Given the description of an element on the screen output the (x, y) to click on. 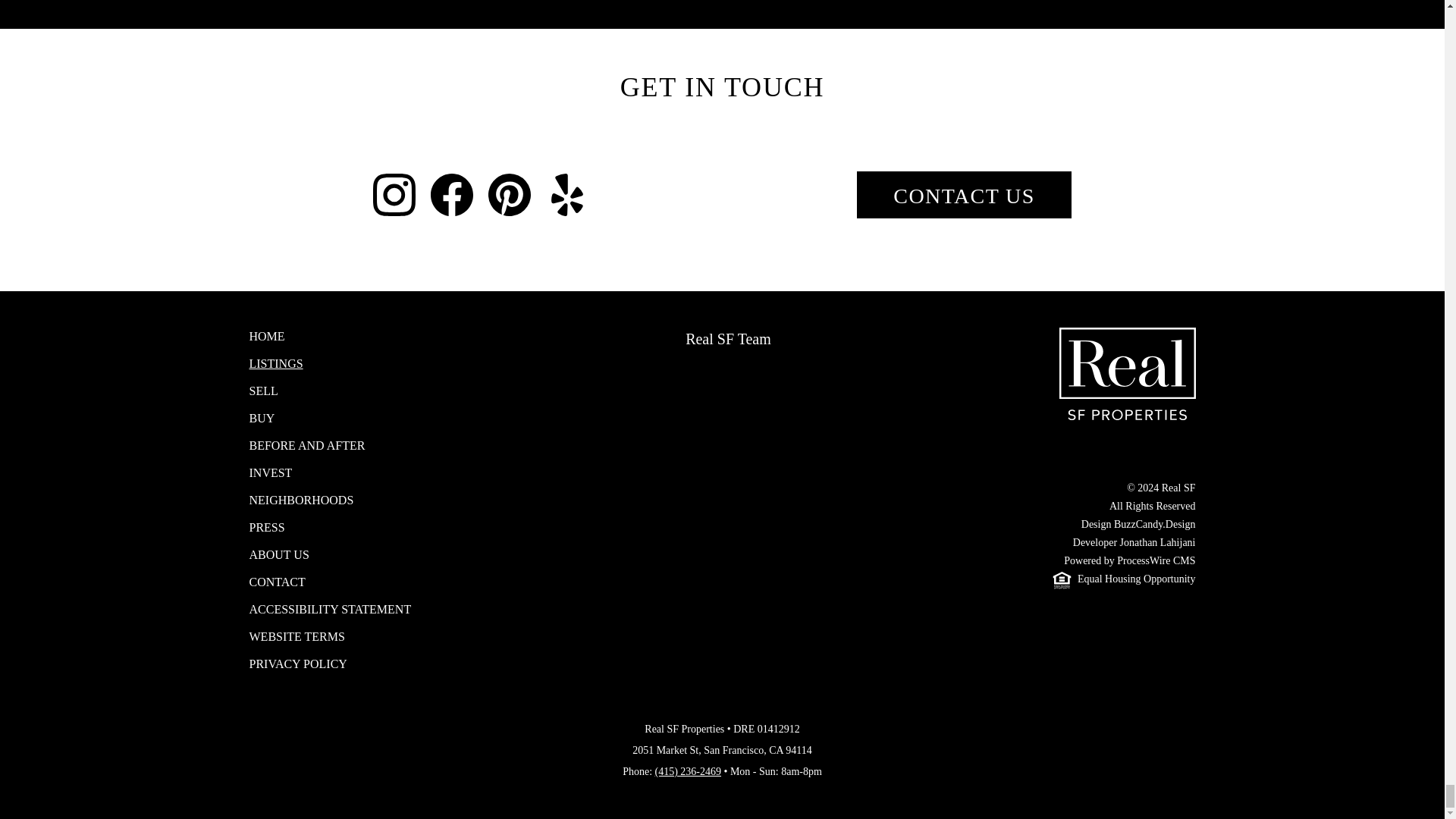
ABOUT US (330, 555)
Instagram New Window (393, 194)
PRESS (330, 527)
ACCESSIBILITY STATEMENT (330, 609)
Facebook New Window (451, 194)
LISTINGS (330, 363)
CONTACT (330, 582)
PRIVACY POLICY (330, 664)
BUY (330, 418)
NEIGHBORHOODS (330, 500)
